Given the description of an element on the screen output the (x, y) to click on. 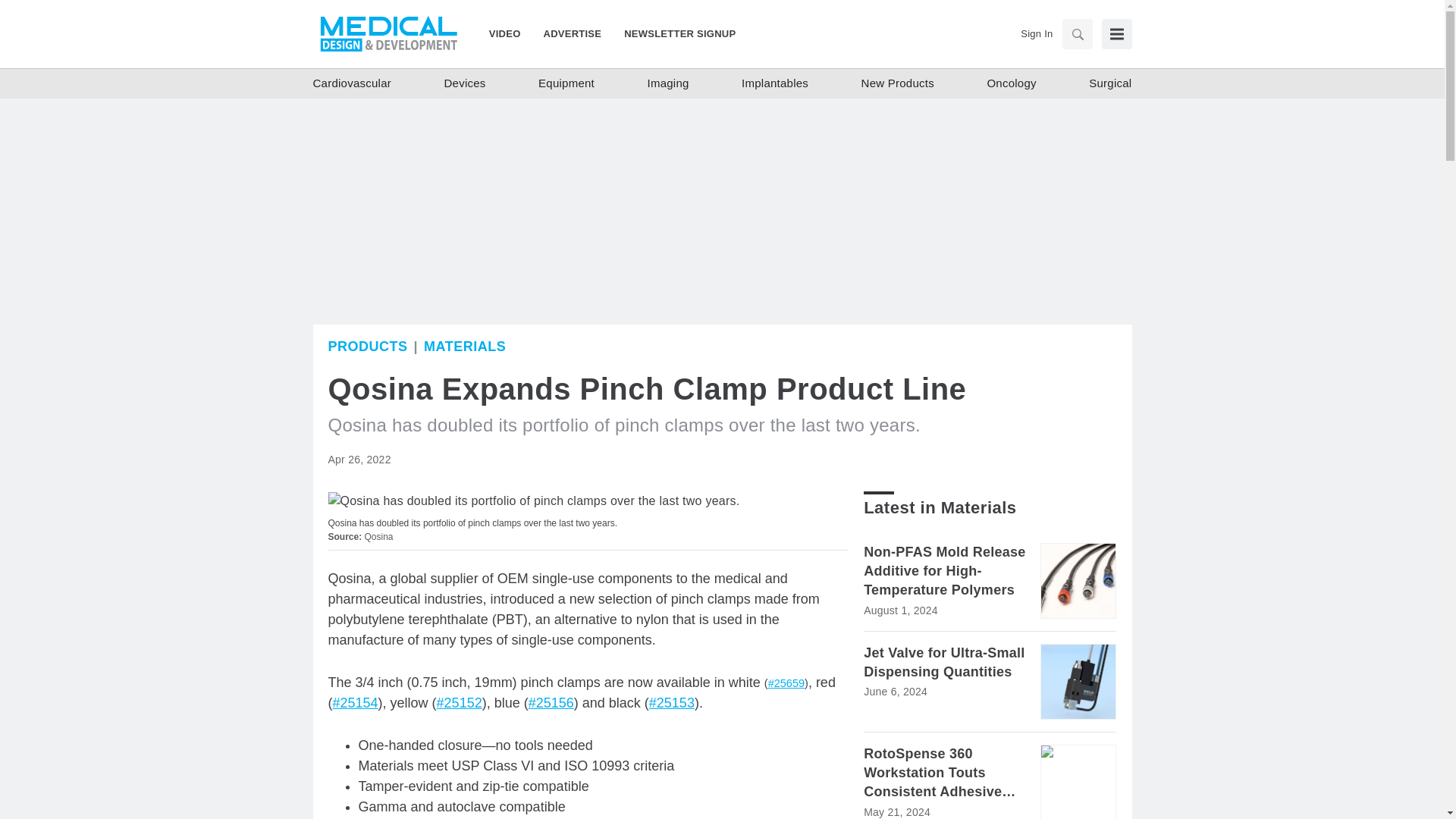
ADVERTISE (572, 33)
Devices (465, 83)
Equipment (566, 83)
Oncology (1011, 83)
Implantables (774, 83)
VIDEO (510, 33)
Sign In (1036, 33)
New Products (897, 83)
NEWSLETTER SIGNUP (673, 33)
Cardiovascular (352, 83)
